Given the description of an element on the screen output the (x, y) to click on. 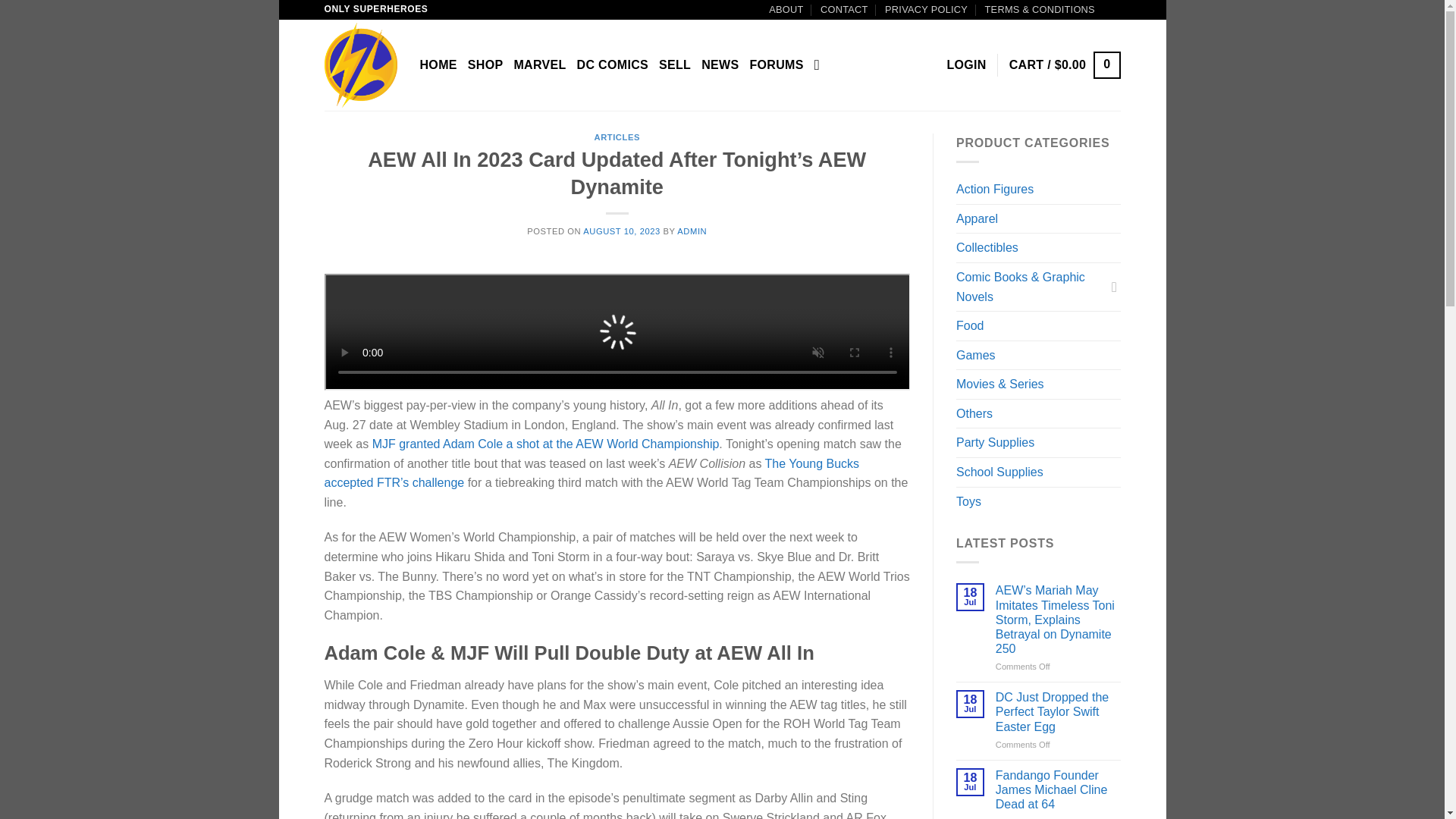
SHOP (485, 64)
MARVEL (539, 64)
MJF granted Adam Cole a shot at the AEW World Championship (545, 443)
SELL (674, 64)
DC COMICS (611, 64)
ADMIN (691, 230)
HOME (438, 64)
AUGUST 10, 2023 (621, 230)
FORUMS (776, 64)
ARTICLES (617, 136)
NEWS (719, 64)
CONTACT (844, 9)
ABOUT (785, 9)
